Given the description of an element on the screen output the (x, y) to click on. 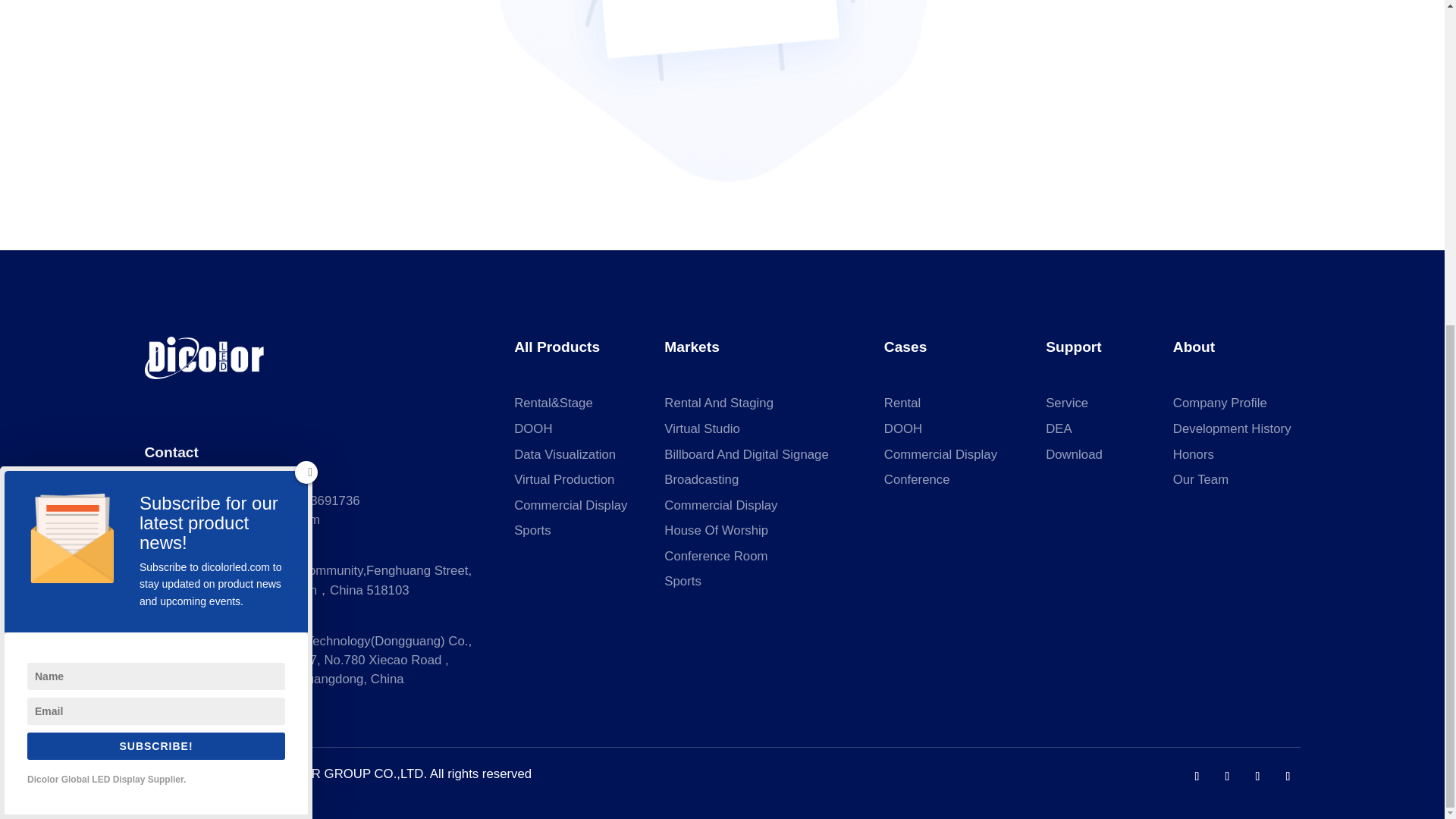
DOOH (532, 428)
Virtual Production (563, 479)
Sports (532, 530)
Rental And Staging (718, 402)
Data Visualization (564, 454)
Dicolor-LOGO-1 (204, 357)
Broadcasting (700, 479)
Virtual Studio (701, 428)
Commercial Display (570, 504)
Contact (171, 452)
Billboard And Digital Signage (745, 454)
